Given the description of an element on the screen output the (x, y) to click on. 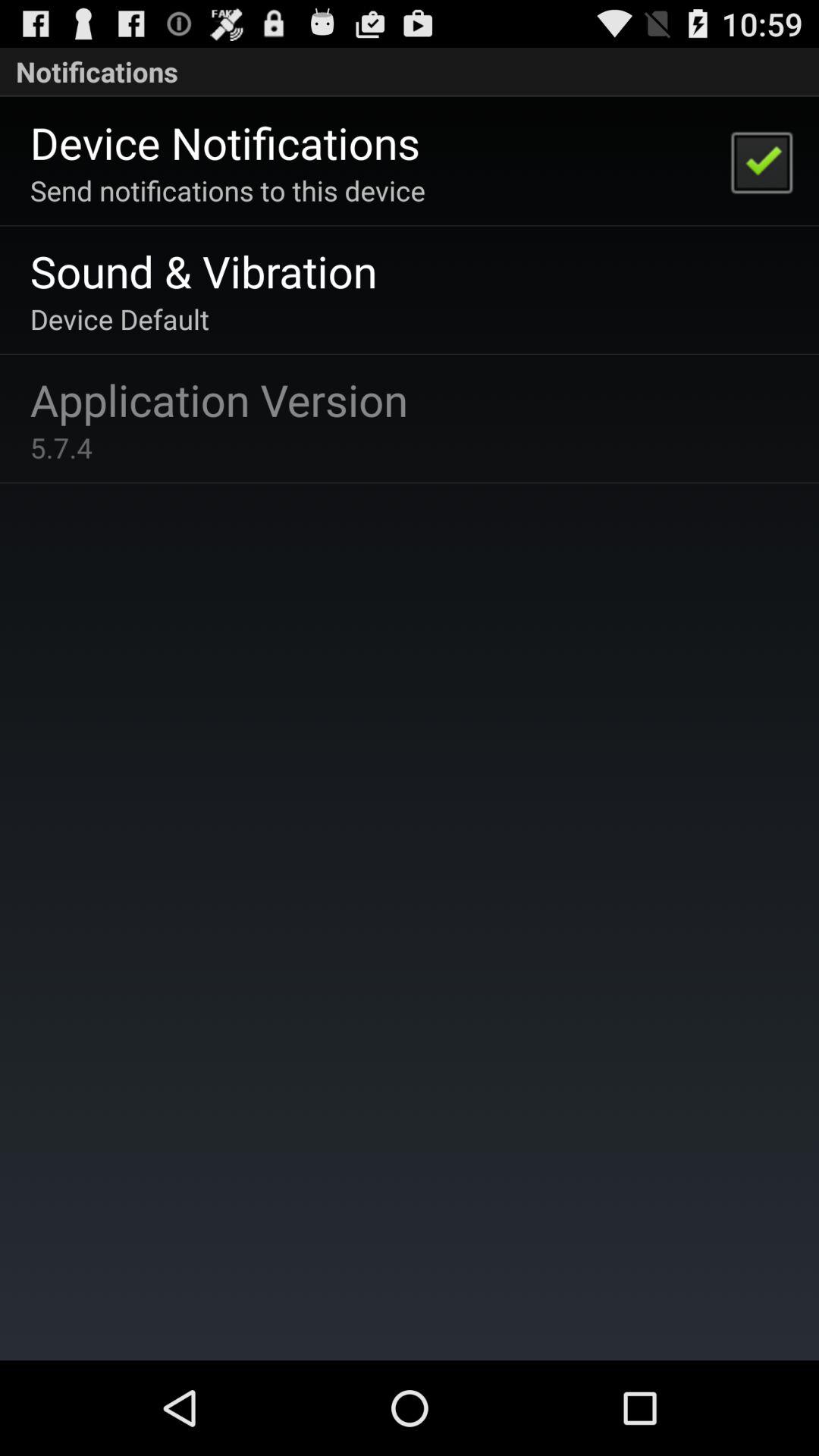
click checkbox at the top right corner (761, 161)
